Given the description of an element on the screen output the (x, y) to click on. 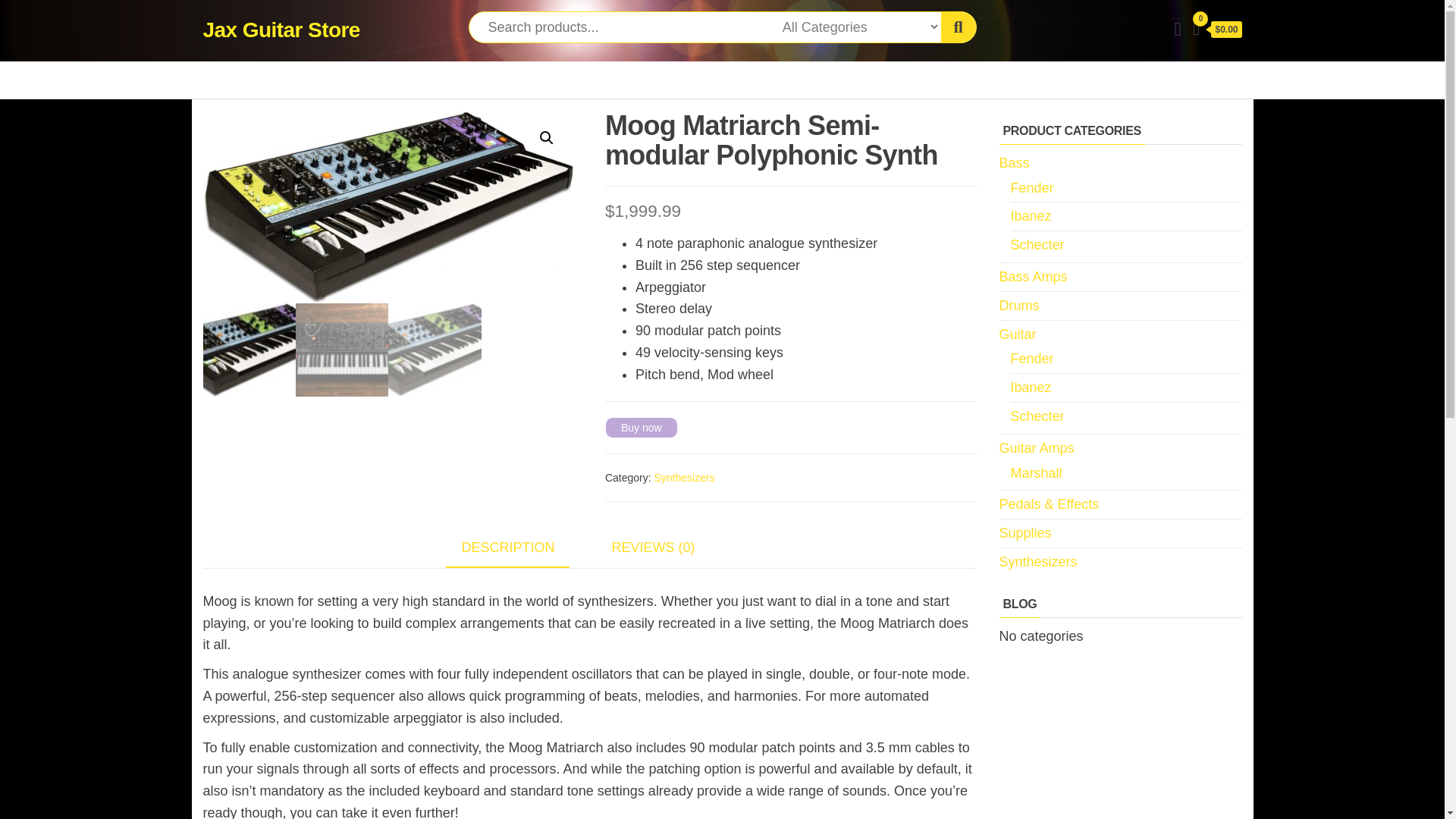
Ibanez (1030, 215)
Bass Amps (1032, 276)
Ibanez (1030, 387)
Schecter (1037, 244)
Drums (1018, 305)
Jax Guitar Store (281, 29)
Buy now (641, 427)
Bass (1013, 162)
Cart (1216, 29)
DESCRIPTION (507, 548)
Fender (1031, 187)
Fender (1031, 358)
Schecter (1037, 416)
Synthesizers (683, 477)
Guitar (1017, 334)
